Given the description of an element on the screen output the (x, y) to click on. 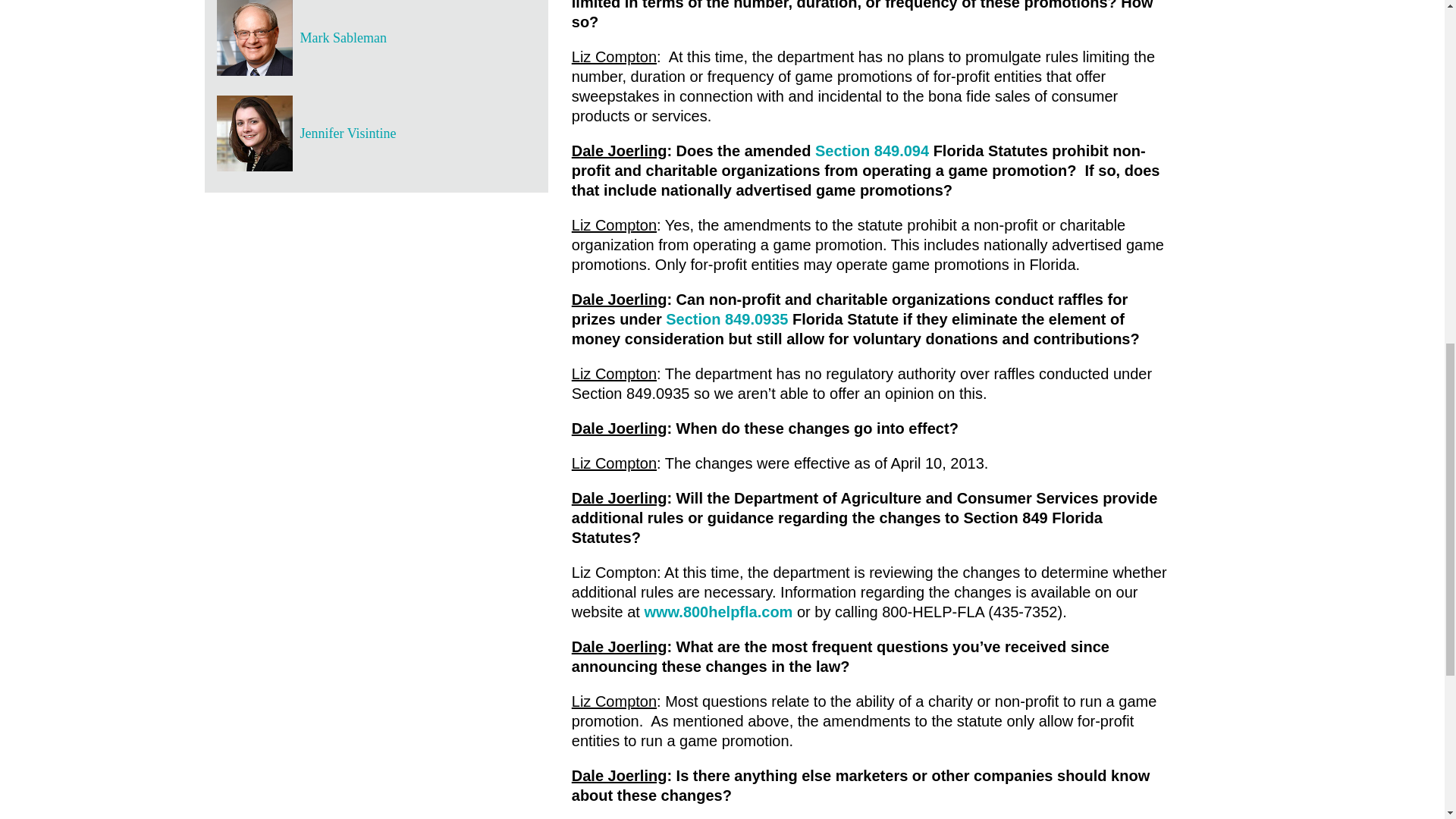
Mark Sableman (416, 37)
